Given the description of an element on the screen output the (x, y) to click on. 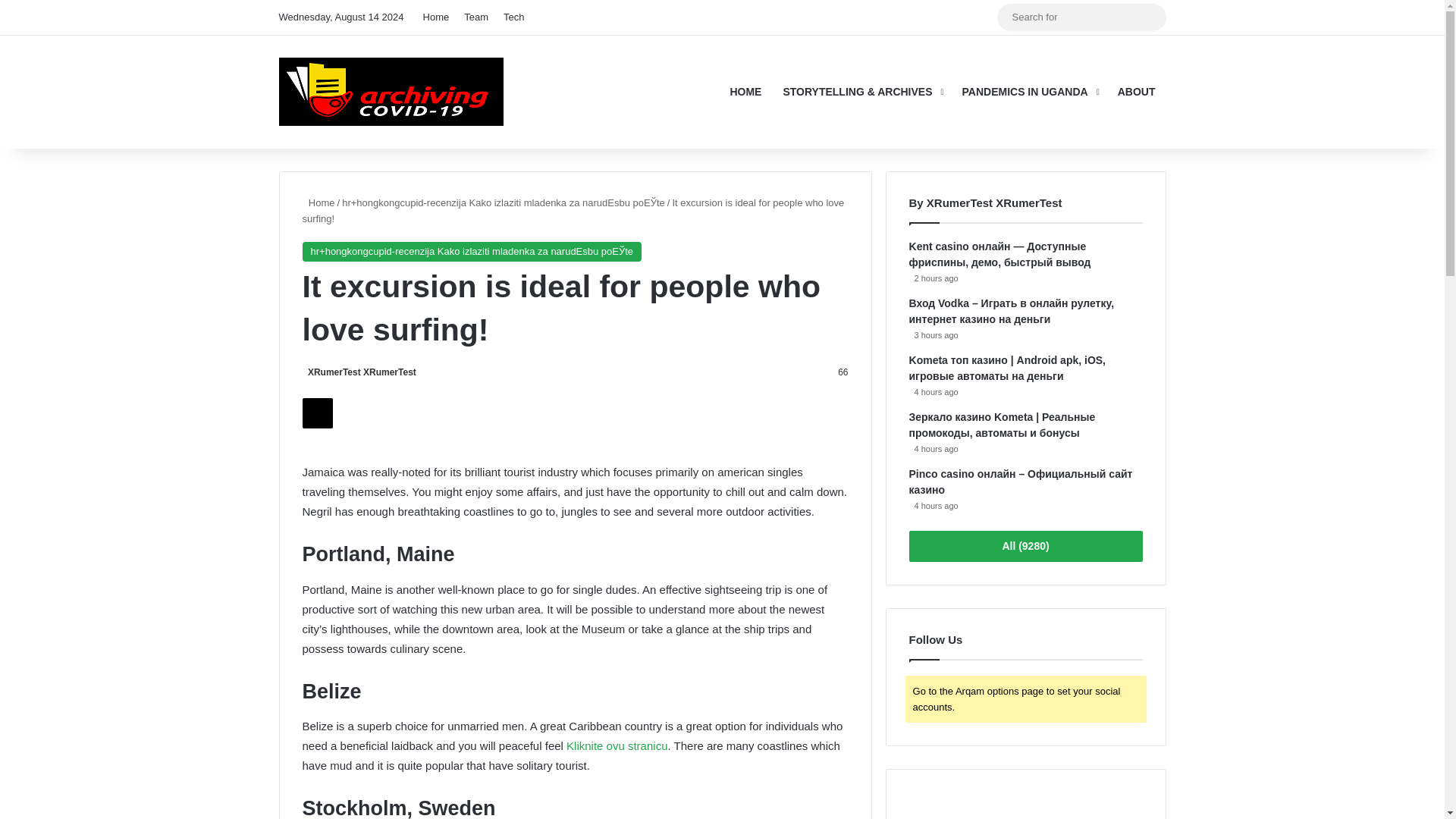
Search for (1150, 17)
Archiving COVID-19 (391, 91)
PANDEMICS IN UGANDA (1029, 91)
X (316, 413)
Search for (1080, 16)
Home (317, 202)
Home (435, 17)
XRumerTest XRumerTest (357, 371)
Tech (513, 17)
XRumerTest XRumerTest (357, 371)
